Given the description of an element on the screen output the (x, y) to click on. 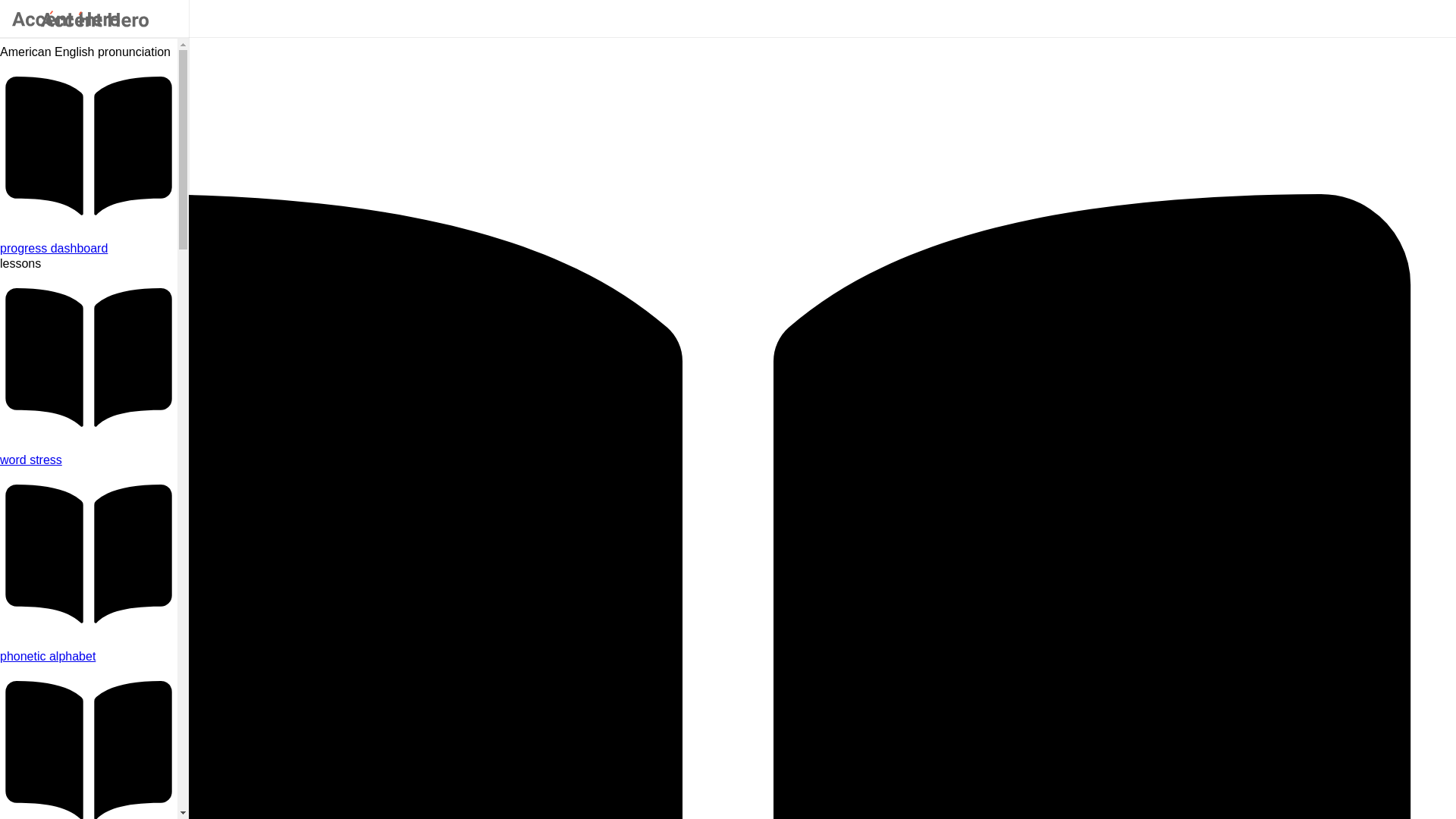
Learn how word stress influences your accent (88, 459)
Learn to precisely articulate each sound (88, 656)
